Given the description of an element on the screen output the (x, y) to click on. 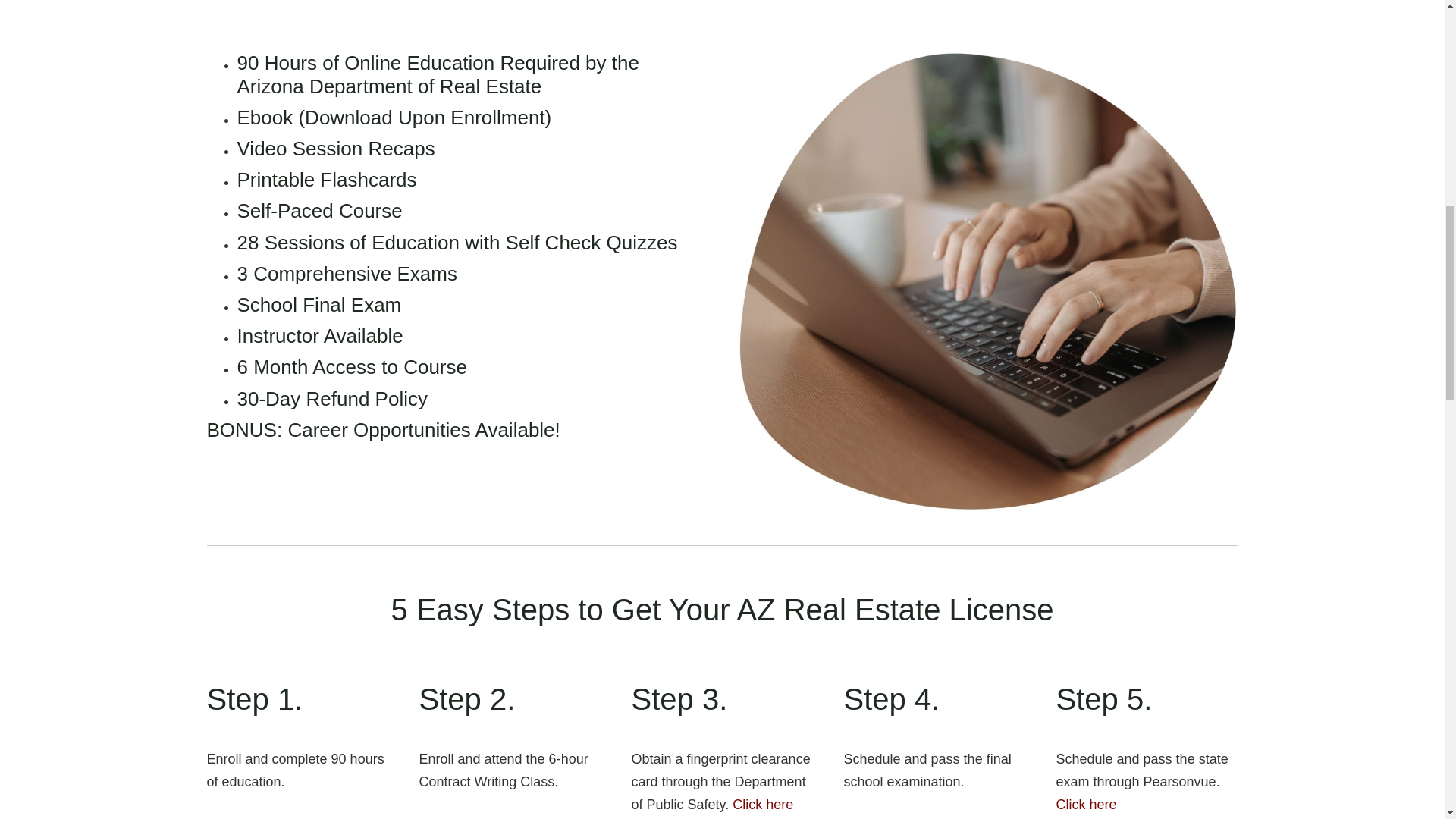
Click here (762, 804)
Click here (1085, 804)
